Given the description of an element on the screen output the (x, y) to click on. 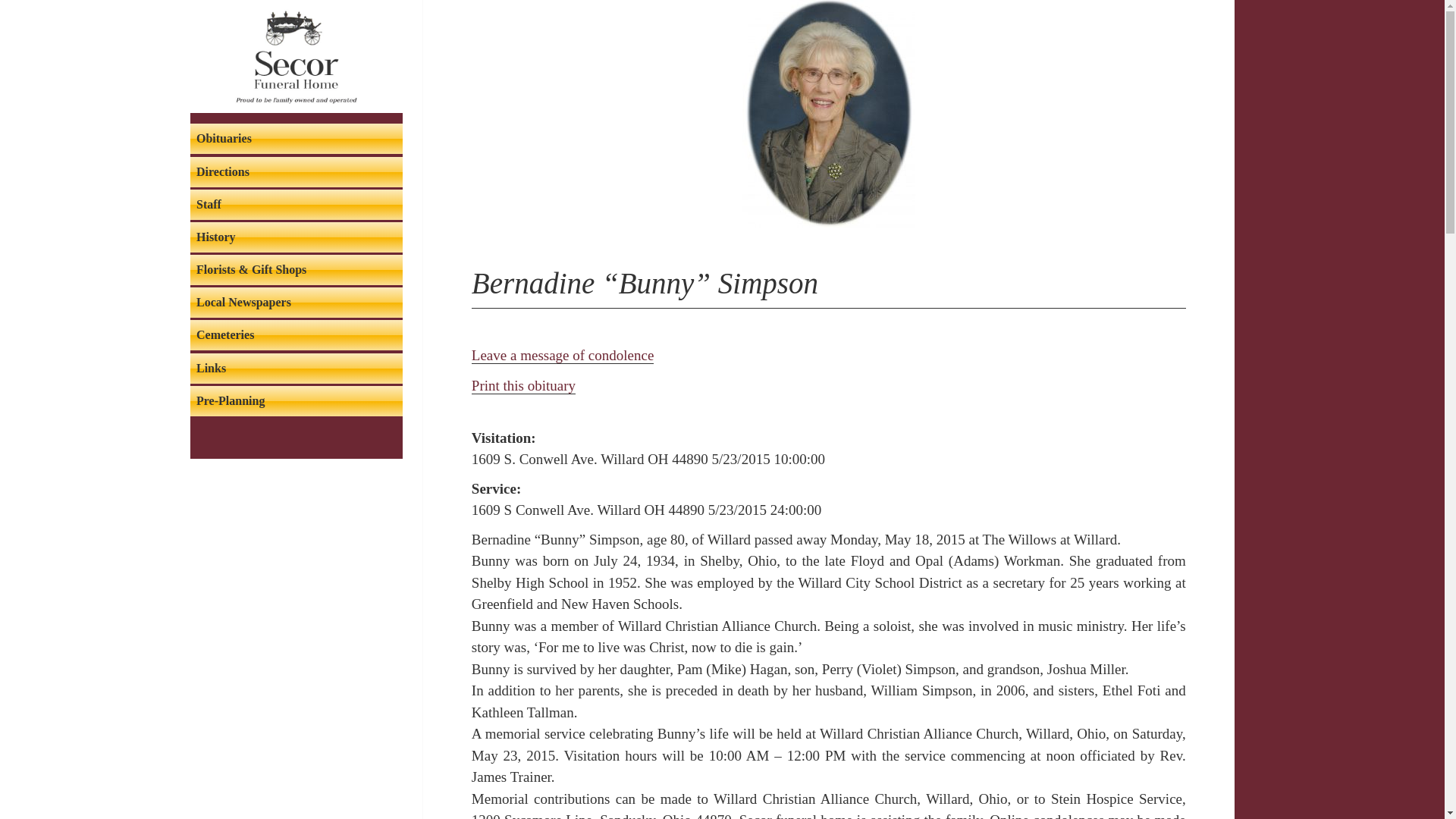
Pre-Planning (296, 400)
Local Newspapers (296, 302)
Obituaries (296, 138)
History (296, 236)
Secor Funeral Home (295, 56)
Staff (296, 204)
Leave a message of condolence (562, 355)
Print this obituary (523, 385)
Directions (296, 172)
Cemeteries (296, 335)
Links (296, 368)
